Given the description of an element on the screen output the (x, y) to click on. 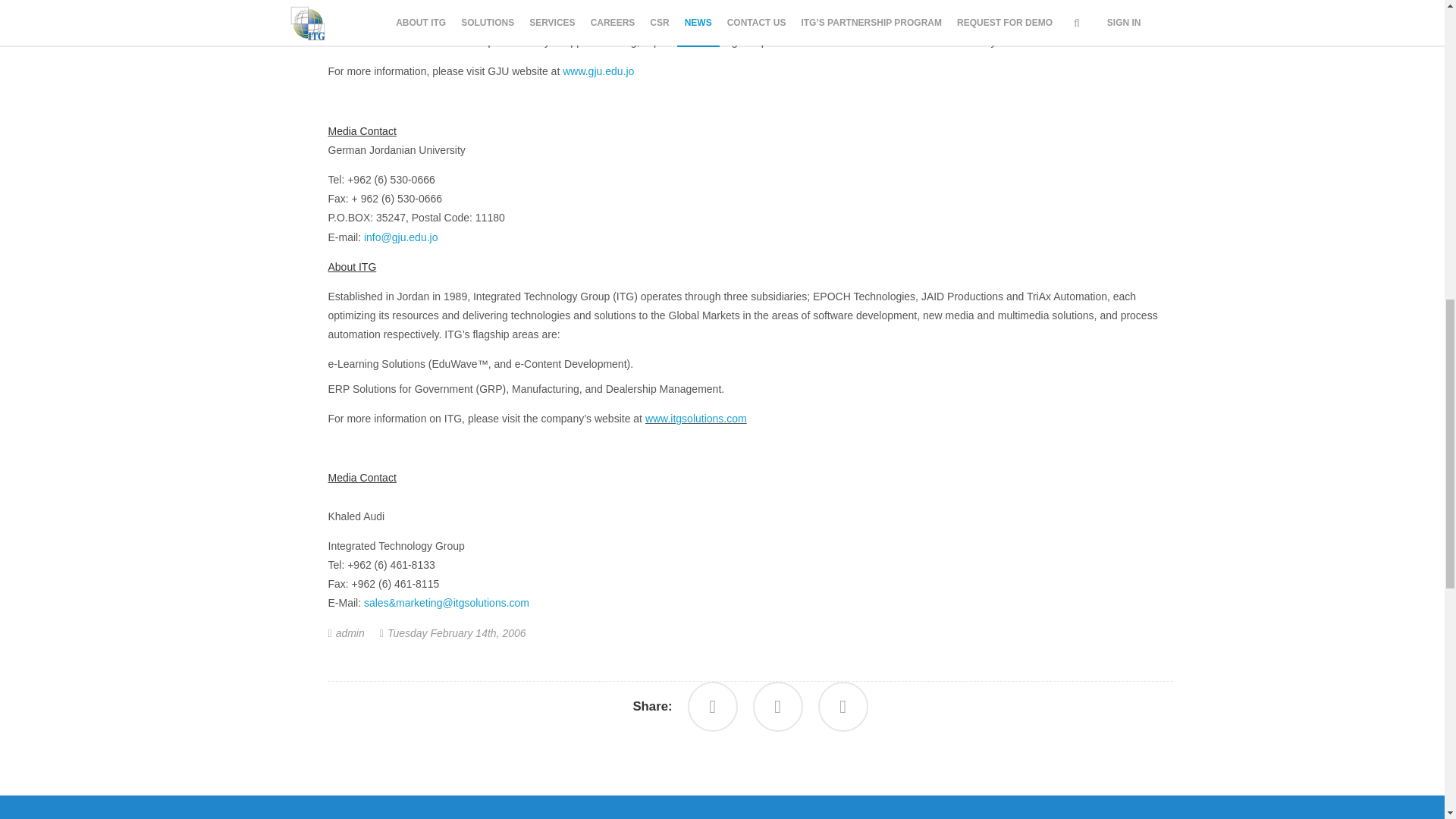
Facebook (712, 706)
Twitter (842, 706)
admin (350, 633)
www.gju.edu.jo (597, 70)
www.itgsolutions.com (695, 418)
